Given the description of an element on the screen output the (x, y) to click on. 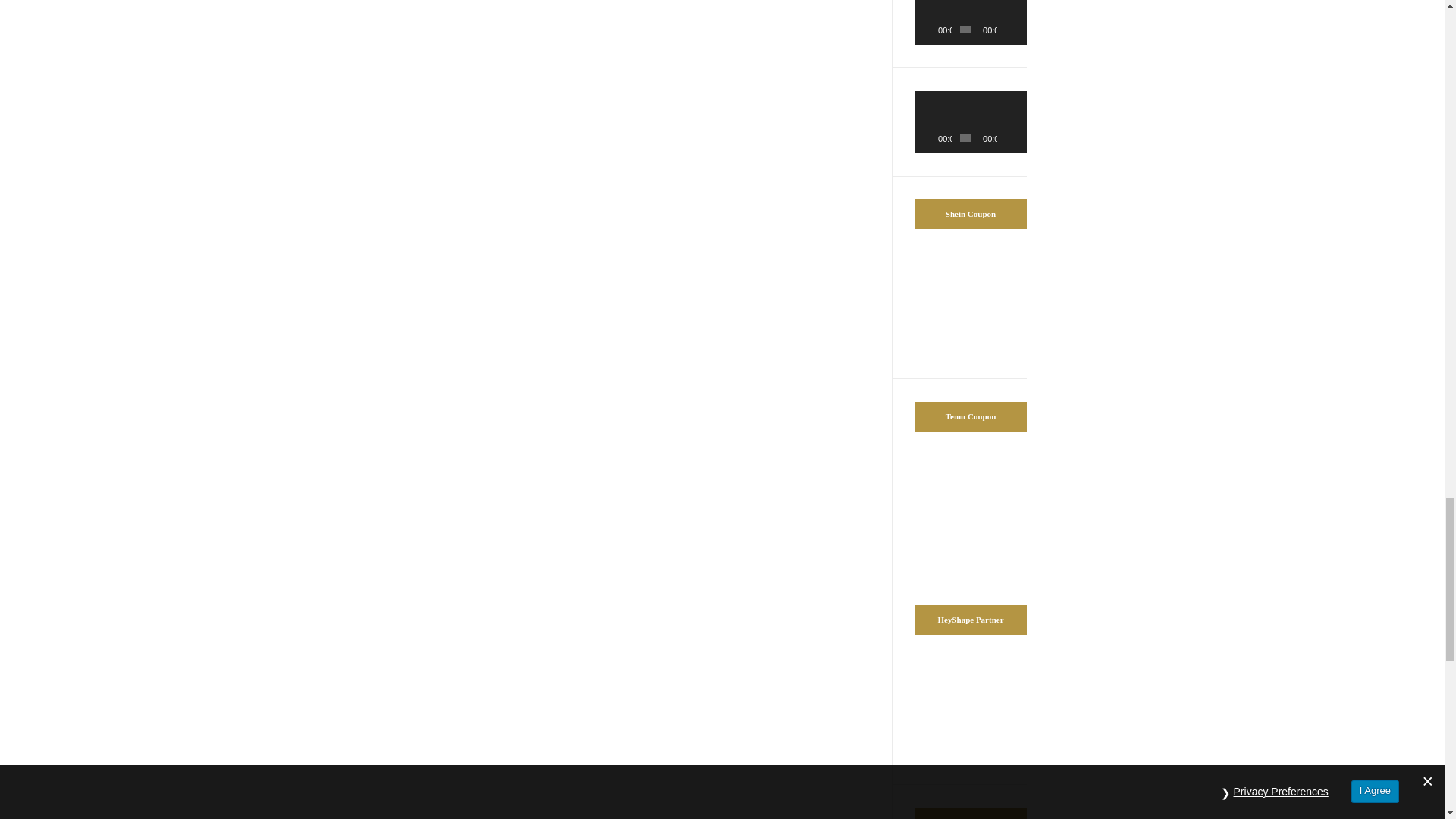
Play (934, 137)
Mute (1008, 28)
Mute (1008, 137)
Fullscreen (1019, 28)
Fullscreen (1019, 137)
Play (934, 28)
